Given the description of an element on the screen output the (x, y) to click on. 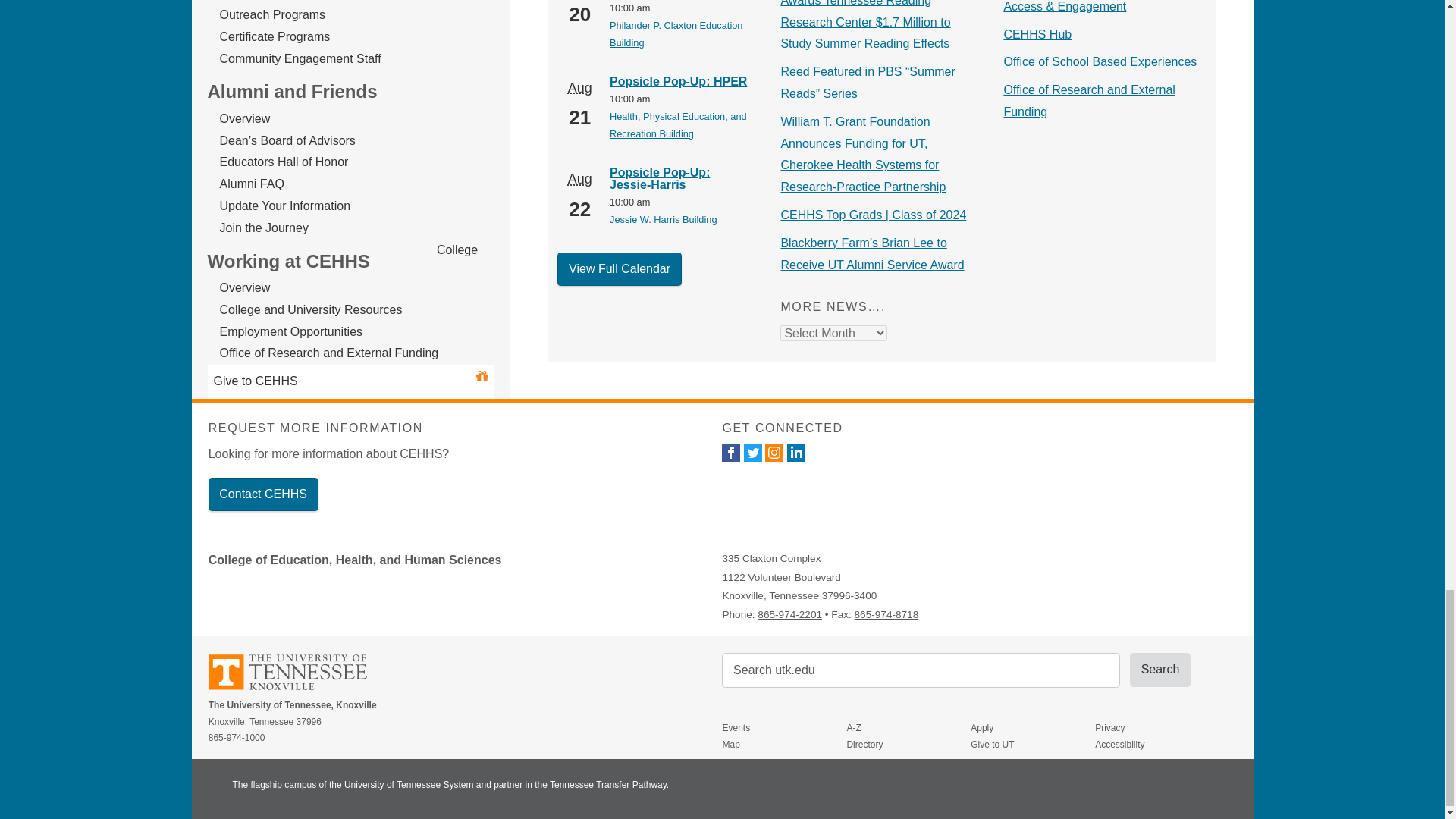
Submit (1160, 669)
August (579, 179)
Search (1160, 669)
Search utk.edu (920, 669)
search (920, 669)
August (579, 88)
